Given the description of an element on the screen output the (x, y) to click on. 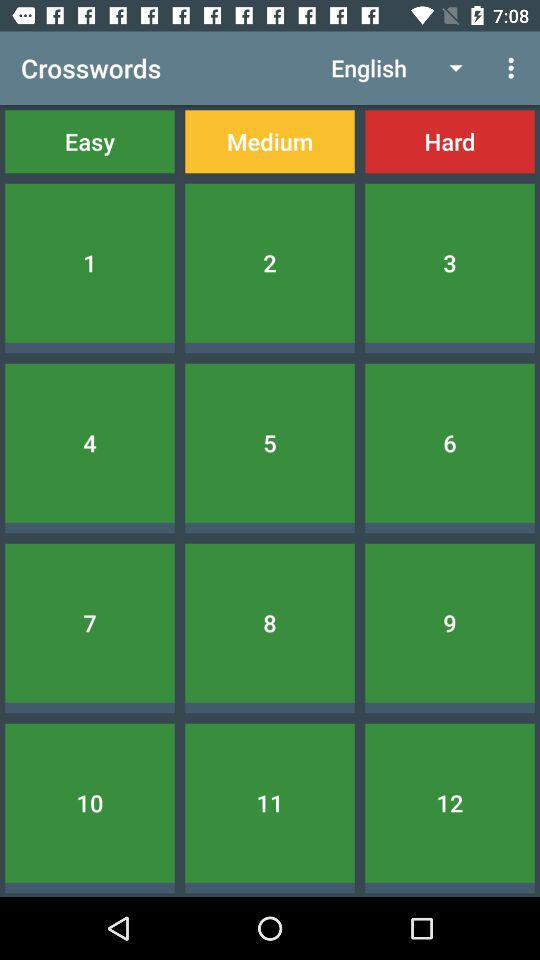
click the 8 item (269, 622)
